Given the description of an element on the screen output the (x, y) to click on. 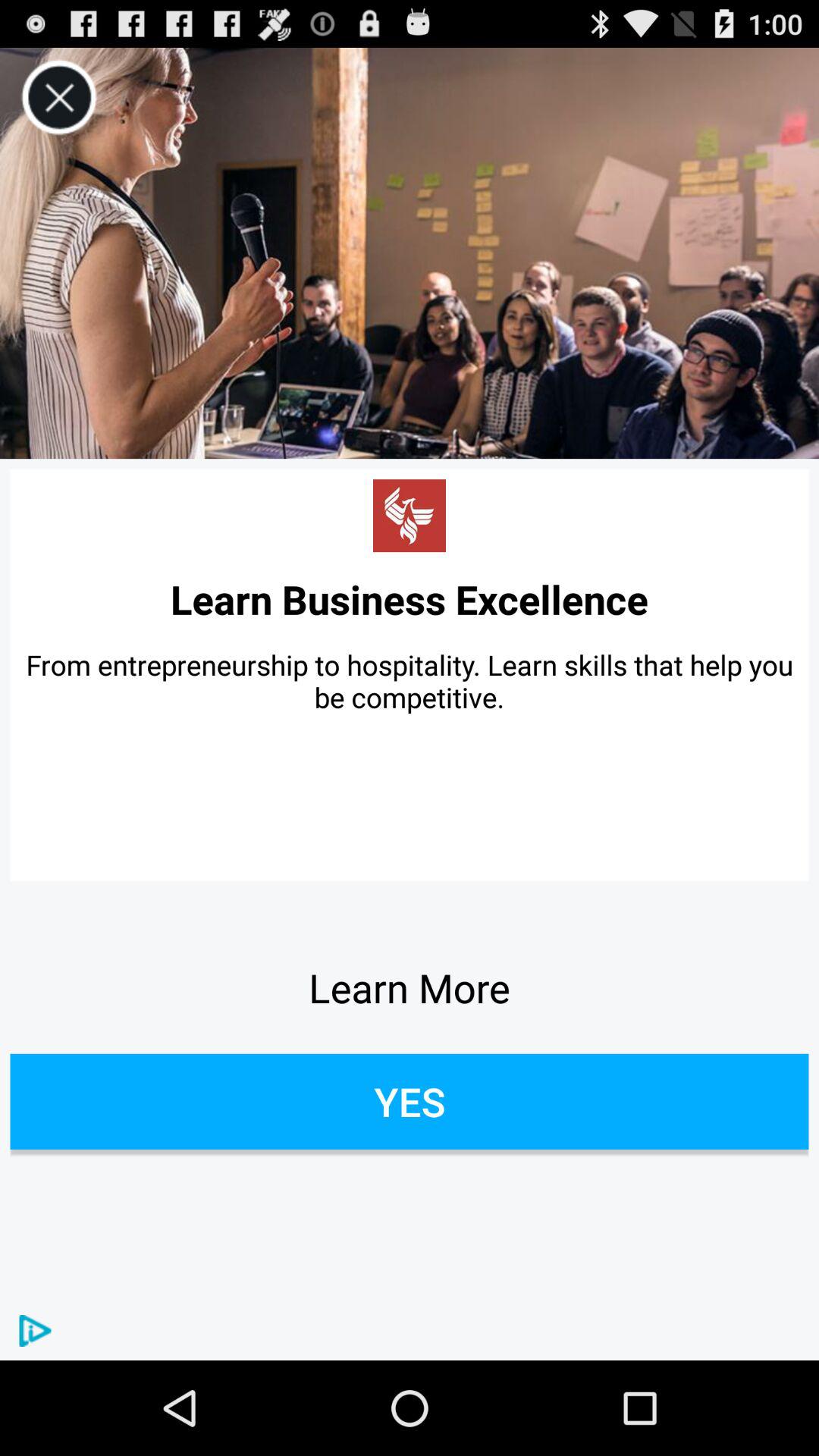
enlarge picture (409, 252)
